Given the description of an element on the screen output the (x, y) to click on. 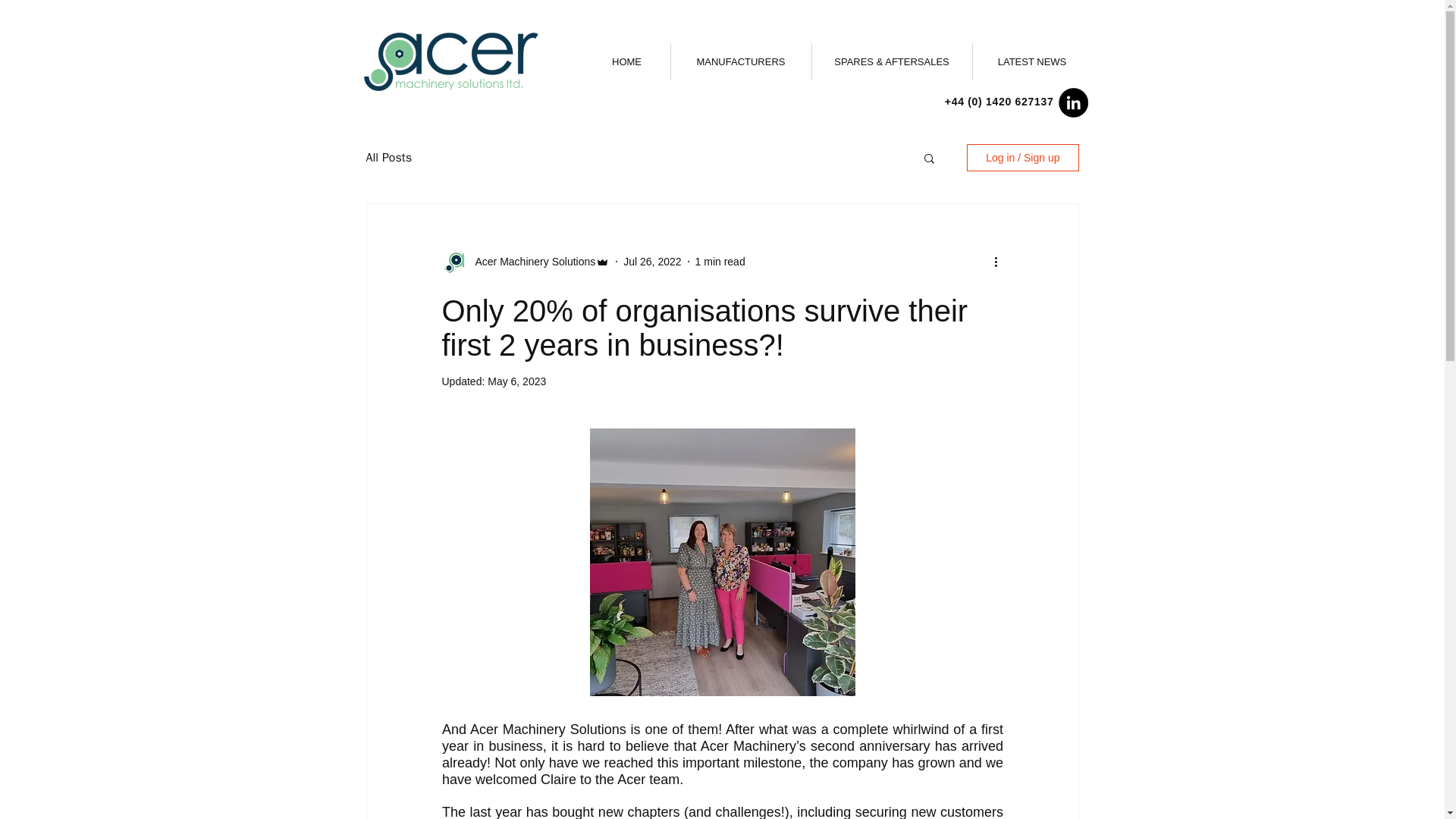
Jul 26, 2022 (652, 260)
1 min read (720, 260)
HOME (626, 61)
MANUFACTURERS (739, 61)
May 6, 2023 (516, 381)
Acer Machinery Solutions (530, 261)
All Posts (388, 157)
LATEST NEWS (1032, 61)
